Given the description of an element on the screen output the (x, y) to click on. 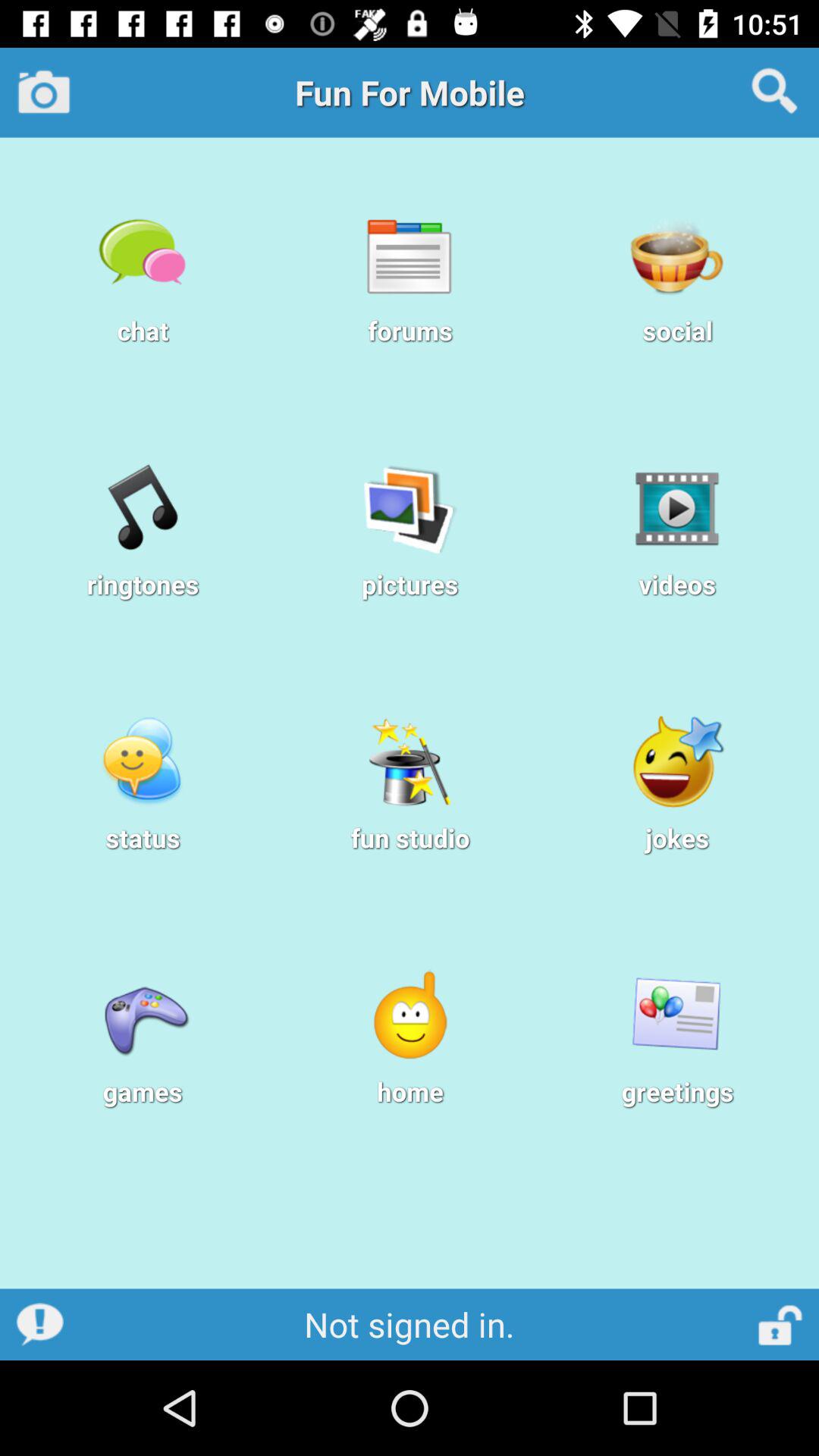
press item to the right of not signed in. app (781, 1324)
